Given the description of an element on the screen output the (x, y) to click on. 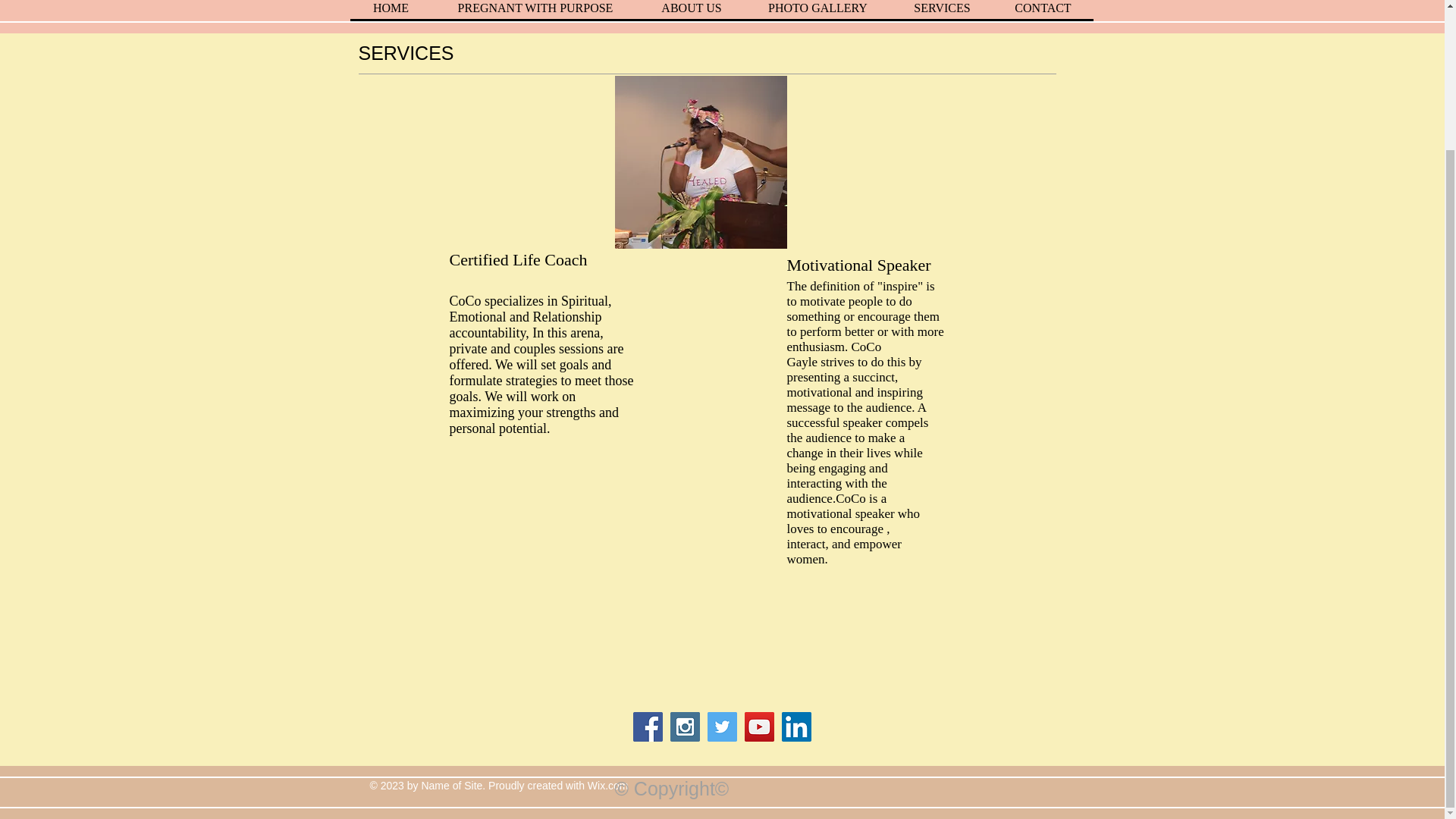
HOME (391, 9)
SERVICES (941, 9)
PHOTO GALLERY (817, 9)
CONTACT (1042, 9)
PREGNANT WITH PURPOSE (535, 9)
ABOUT US (691, 9)
Wix.com (608, 785)
